Given the description of an element on the screen output the (x, y) to click on. 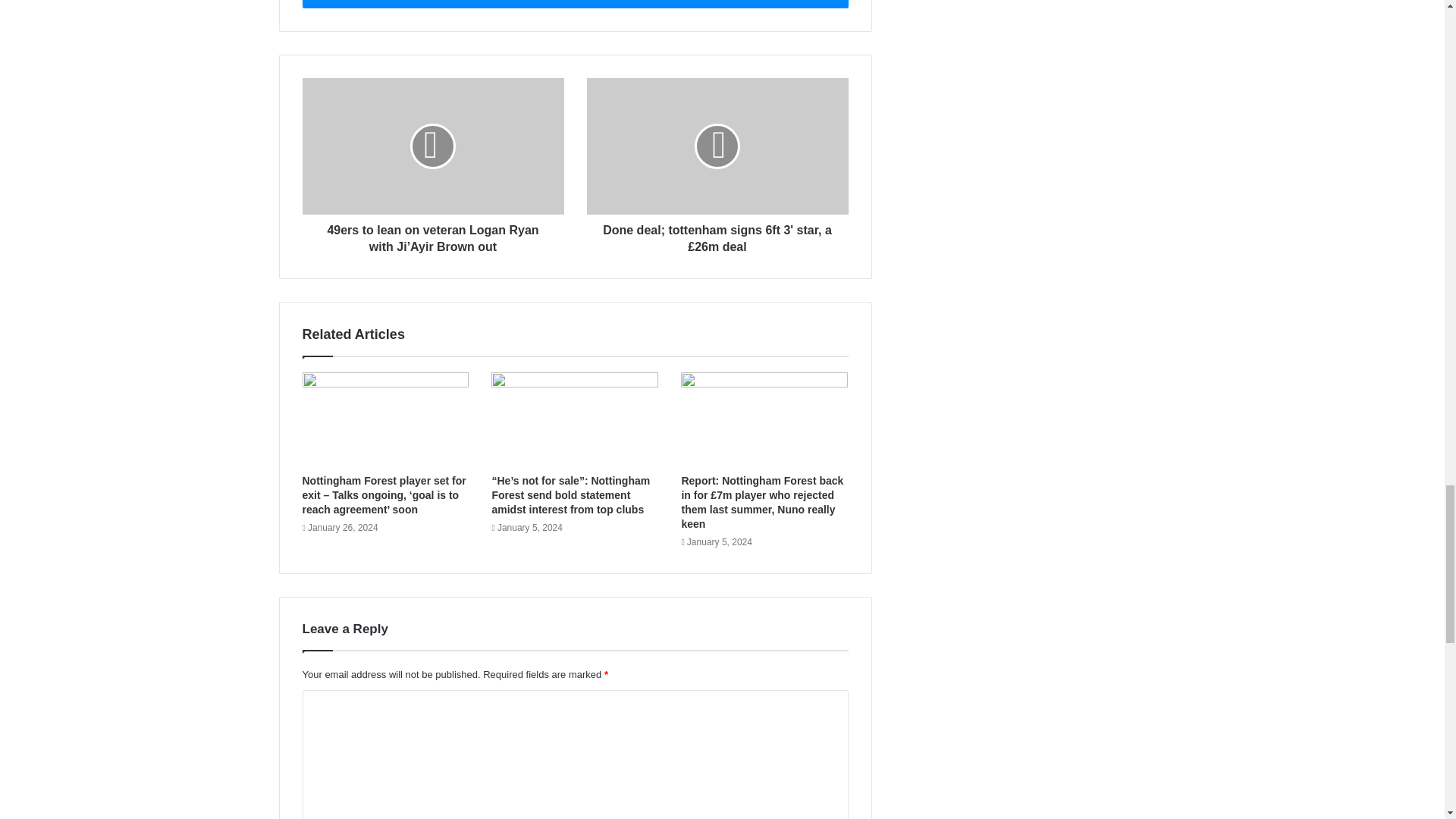
Subscribe (574, 4)
